Given the description of an element on the screen output the (x, y) to click on. 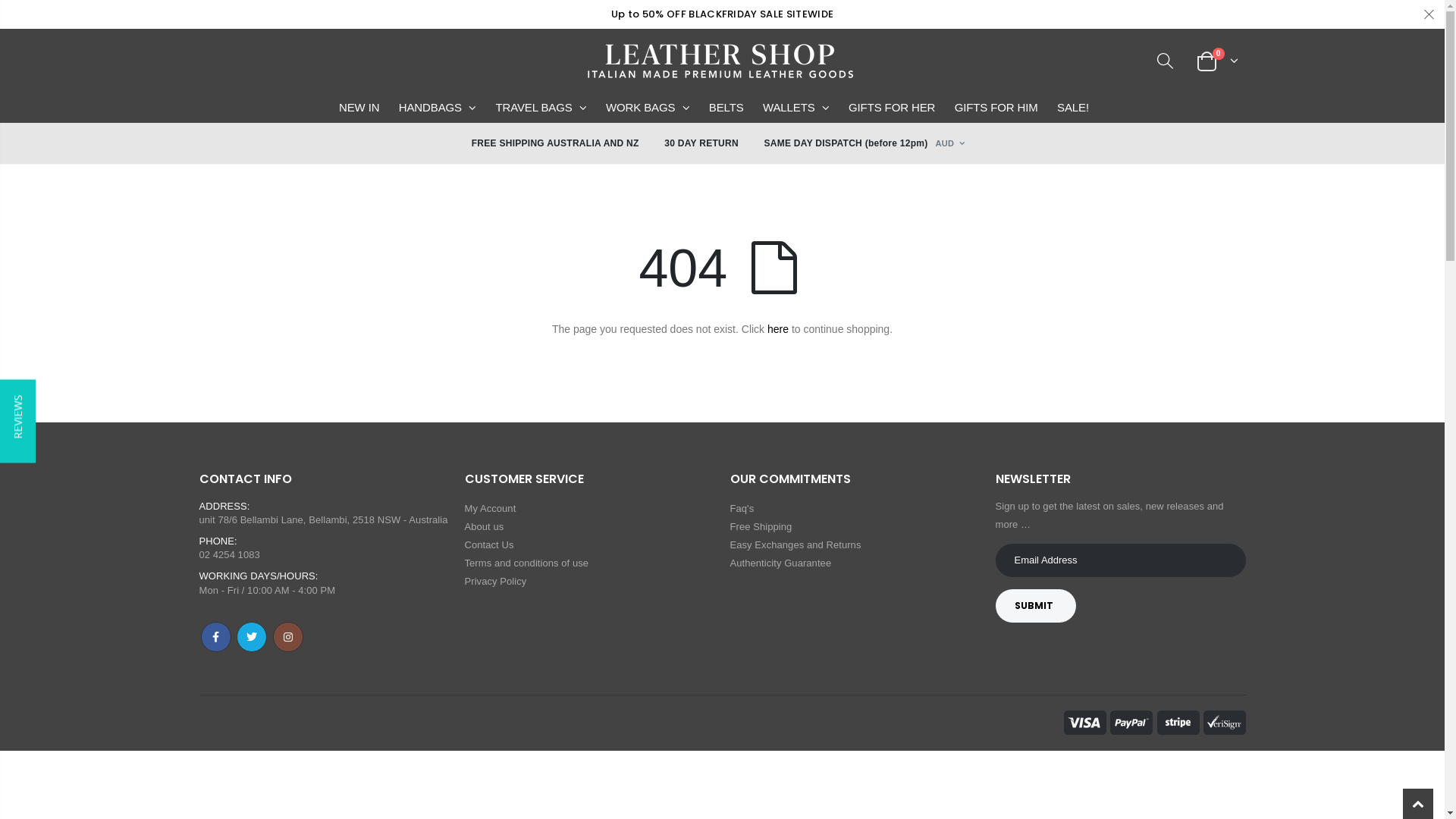
SALE! Element type: text (1081, 103)
AUD Element type: text (948, 142)
TRAVEL BAGS Element type: text (548, 103)
Instagram Element type: text (288, 636)
BOB Element type: text (948, 486)
WORK BAGS Element type: text (655, 103)
Free Shipping Element type: text (760, 526)
SUBMIT Element type: text (1035, 605)
AMD Element type: text (948, 236)
Authenticity Guarantee Element type: text (780, 562)
CAD Element type: text (948, 577)
BAM Element type: text (948, 349)
Easy Exchanges and Returns Element type: text (794, 544)
AFN Element type: text (948, 190)
Twitter Element type: text (251, 636)
Faq's Element type: text (741, 508)
AUD Element type: text (948, 281)
CHF Element type: text (948, 622)
DZD Element type: text (948, 804)
AWG Element type: text (948, 304)
Terms and conditions of use Element type: text (526, 562)
My Account Element type: text (489, 508)
CNY Element type: text (948, 645)
AED Element type: text (948, 167)
Facebook Element type: text (215, 636)
DKK Element type: text (948, 759)
HANDBAGS Element type: text (445, 103)
BGN Element type: text (948, 418)
BDT Element type: text (948, 395)
ANG Element type: text (948, 258)
BND Element type: text (948, 463)
NEW IN Element type: text (366, 103)
here Element type: text (777, 329)
DOP Element type: text (948, 782)
BELTS Element type: text (734, 103)
Privacy Policy Element type: text (495, 580)
0 Element type: text (1216, 61)
WALLETS Element type: text (804, 103)
Contact Us Element type: text (488, 544)
BWP Element type: text (948, 531)
CRC Element type: text (948, 668)
BZD Element type: text (948, 554)
GIFTS FOR HIM Element type: text (1004, 103)
CZK Element type: text (948, 713)
GIFTS FOR HER Element type: text (899, 103)
BSD Element type: text (948, 509)
CDF Element type: text (948, 600)
DJF Element type: text (948, 736)
AZN Element type: text (948, 327)
BBD Element type: text (948, 372)
About us Element type: text (483, 526)
BIF Element type: text (948, 440)
CVE Element type: text (948, 691)
ALL Element type: text (948, 213)
